Given the description of an element on the screen output the (x, y) to click on. 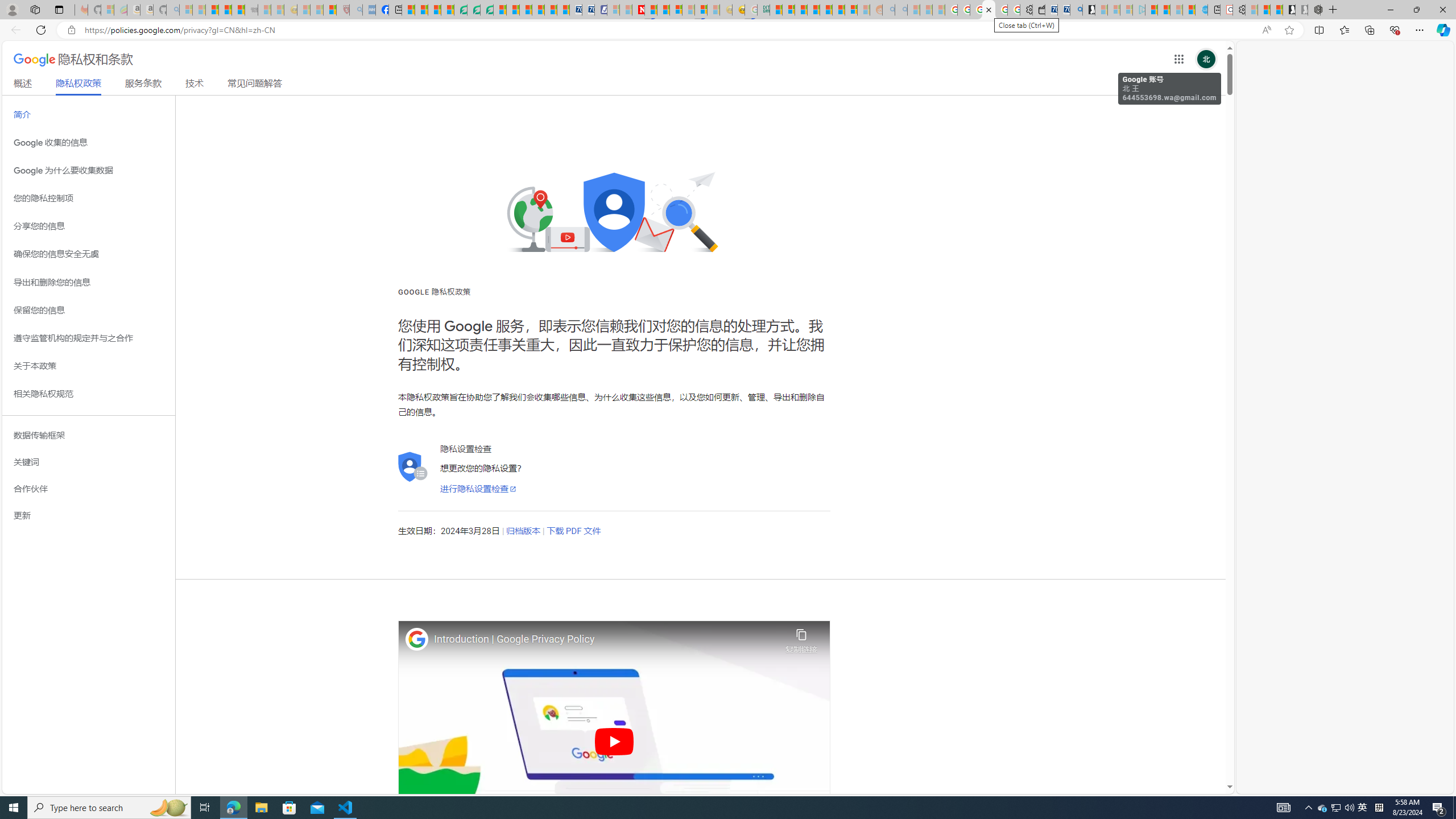
Microsoft Word - consumer-privacy address update 2.2021 (486, 9)
Bing Real Estate - Home sales and rental listings (1076, 9)
